Given the description of an element on the screen output the (x, y) to click on. 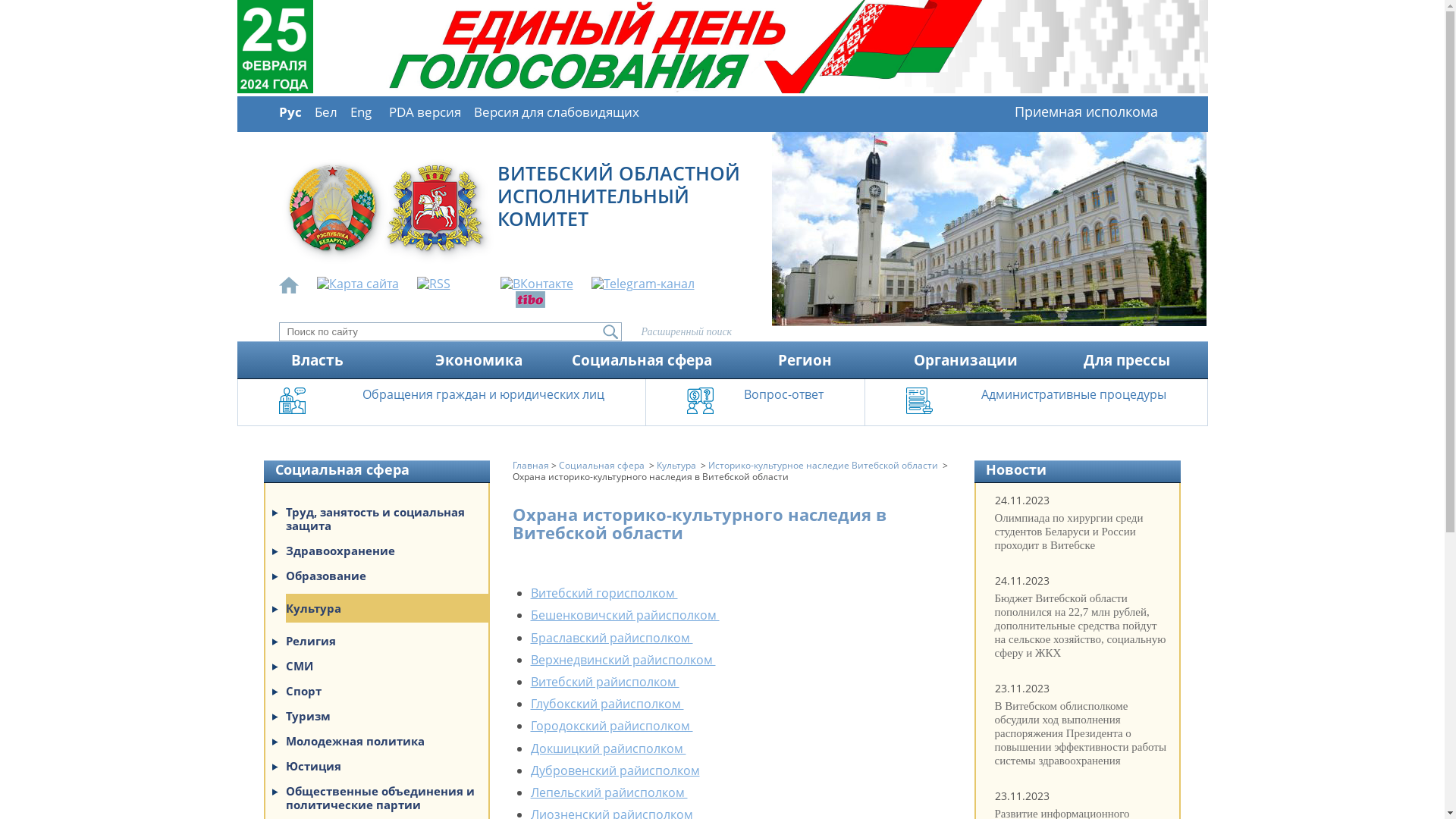
Eng Element type: text (360, 111)
RSS Element type: hover (433, 283)
RSS Element type: hover (442, 283)
